Given the description of an element on the screen output the (x, y) to click on. 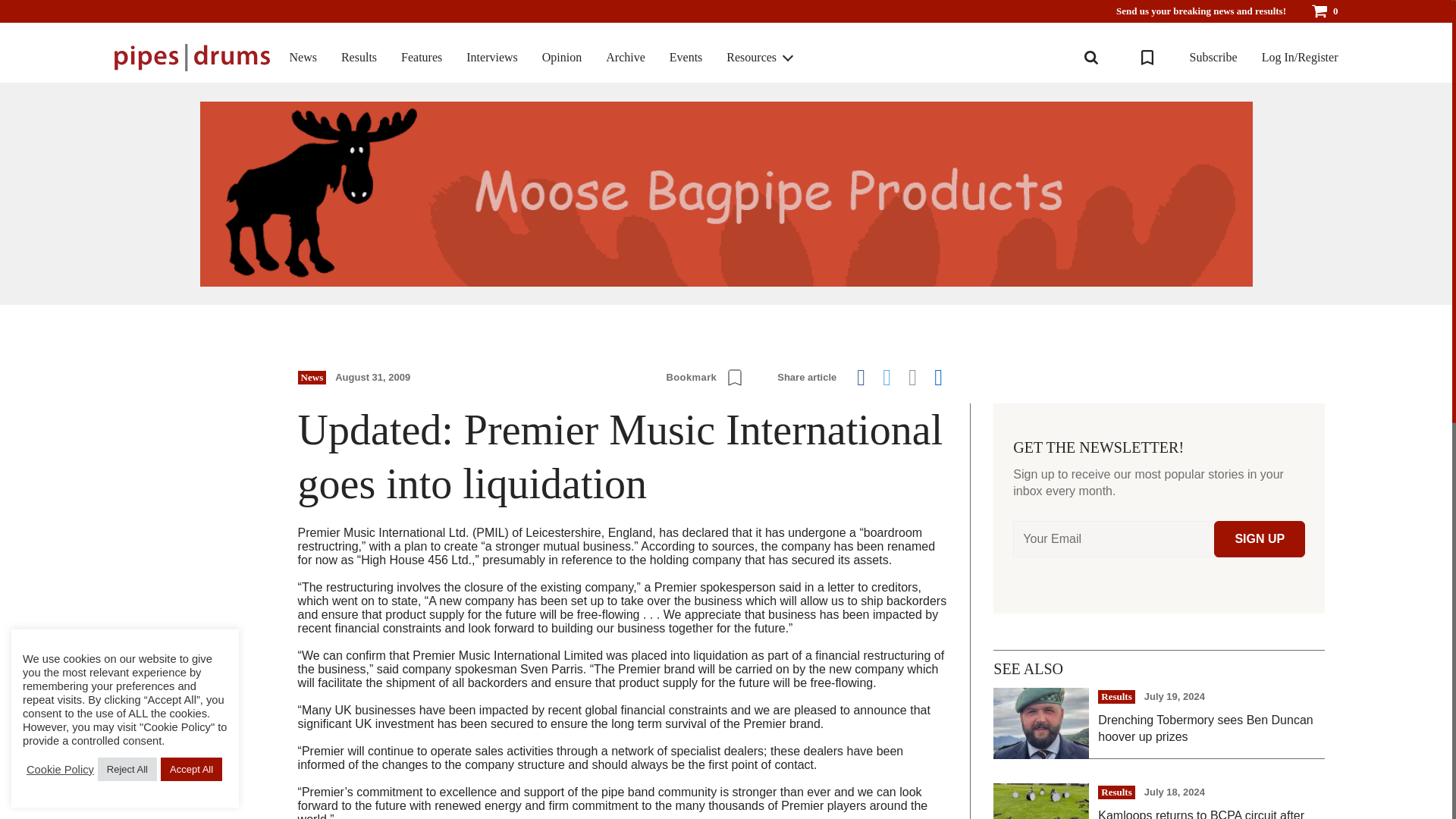
Features (421, 57)
0 (1324, 10)
Results (358, 57)
Opinion (560, 57)
Send us your breaking news and results! (1200, 10)
Resources (751, 57)
Bookmarks (1147, 57)
Archive (625, 57)
Subscribe (1213, 57)
Drenching Tobermory sees Ben Duncan hoover up prizes (1210, 728)
News (303, 57)
Events (686, 57)
Interviews (491, 57)
